Given the description of an element on the screen output the (x, y) to click on. 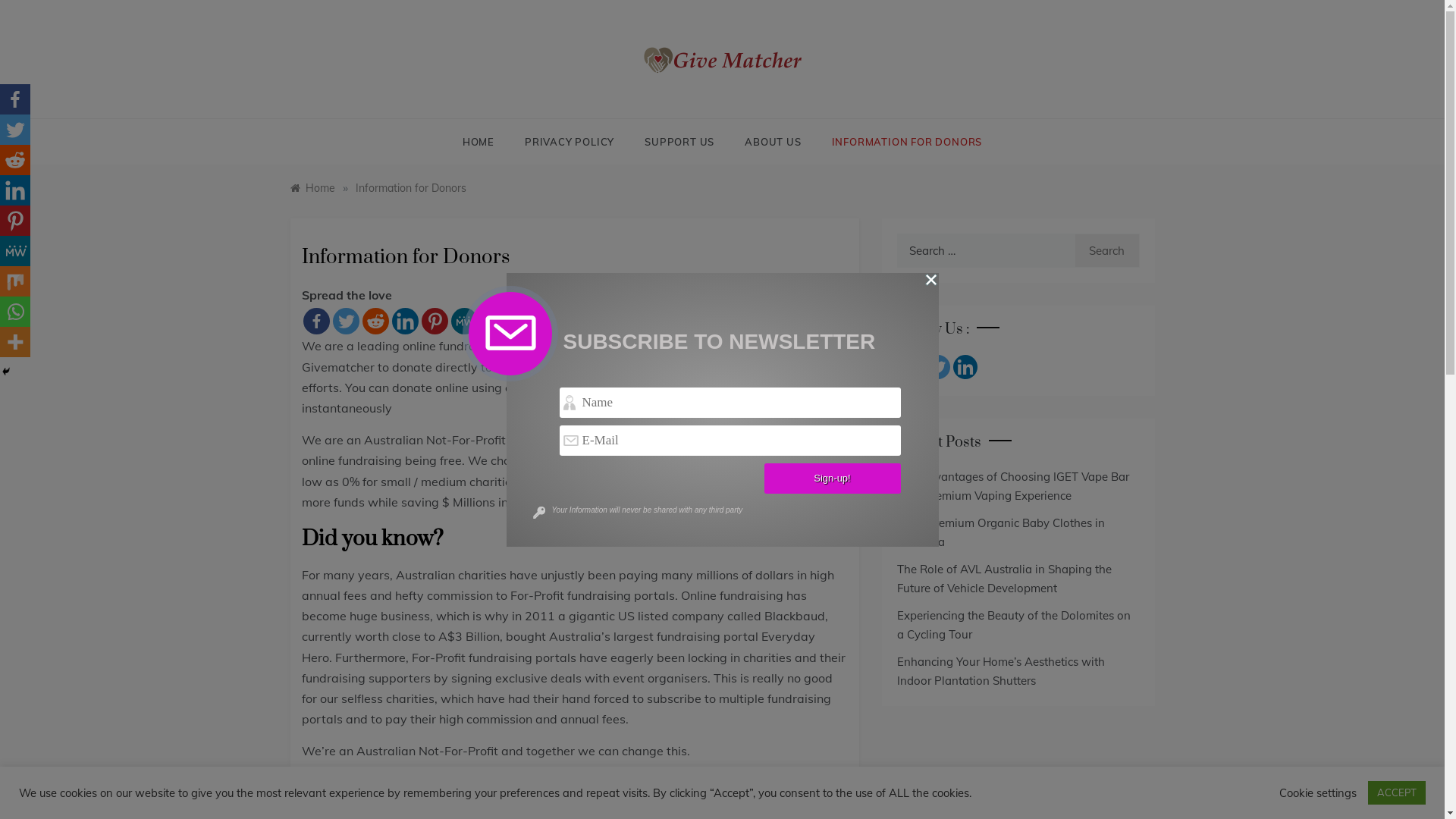
Hide Element type: hover (6, 371)
Whatsapp Element type: hover (522, 320)
ABOUT US Element type: text (772, 141)
Pinterest Element type: hover (15, 220)
HOME Element type: text (485, 141)
More Element type: hover (15, 341)
Reddit Element type: hover (15, 159)
INFORMATION FOR DONORS Element type: text (899, 141)
Twitter Element type: hover (345, 320)
Facebook Element type: hover (316, 320)
SUPPORT US Element type: text (679, 141)
Facebook Element type: hover (15, 99)
More Element type: hover (552, 320)
Sign-up! Element type: text (832, 477)
GIVE MATCHER Element type: text (708, 96)
Search Element type: text (1106, 250)
Experiencing the Beauty of the Dolomites on a Cycling Tour Element type: text (1012, 625)
Twitter Element type: hover (15, 129)
Mix Element type: hover (15, 281)
Information for Donors Element type: text (409, 187)
Mix Element type: hover (493, 320)
PRIVACY POLICY Element type: text (569, 141)
Linkedin Element type: hover (15, 190)
Shop Premium Organic Baby Clothes in Australia Element type: text (1000, 532)
Reddit Element type: hover (375, 320)
MeWe Element type: hover (463, 320)
Cookie settings Element type: text (1317, 792)
Linkedin Element type: hover (404, 320)
Linkedin Element type: hover (964, 366)
Home Element type: text (311, 187)
ACCEPT Element type: text (1396, 792)
MeWe Element type: hover (15, 250)
Facebook Element type: hover (909, 366)
Twitter Element type: hover (937, 366)
Pinterest Element type: hover (434, 320)
Whatsapp Element type: hover (15, 311)
